Given the description of an element on the screen output the (x, y) to click on. 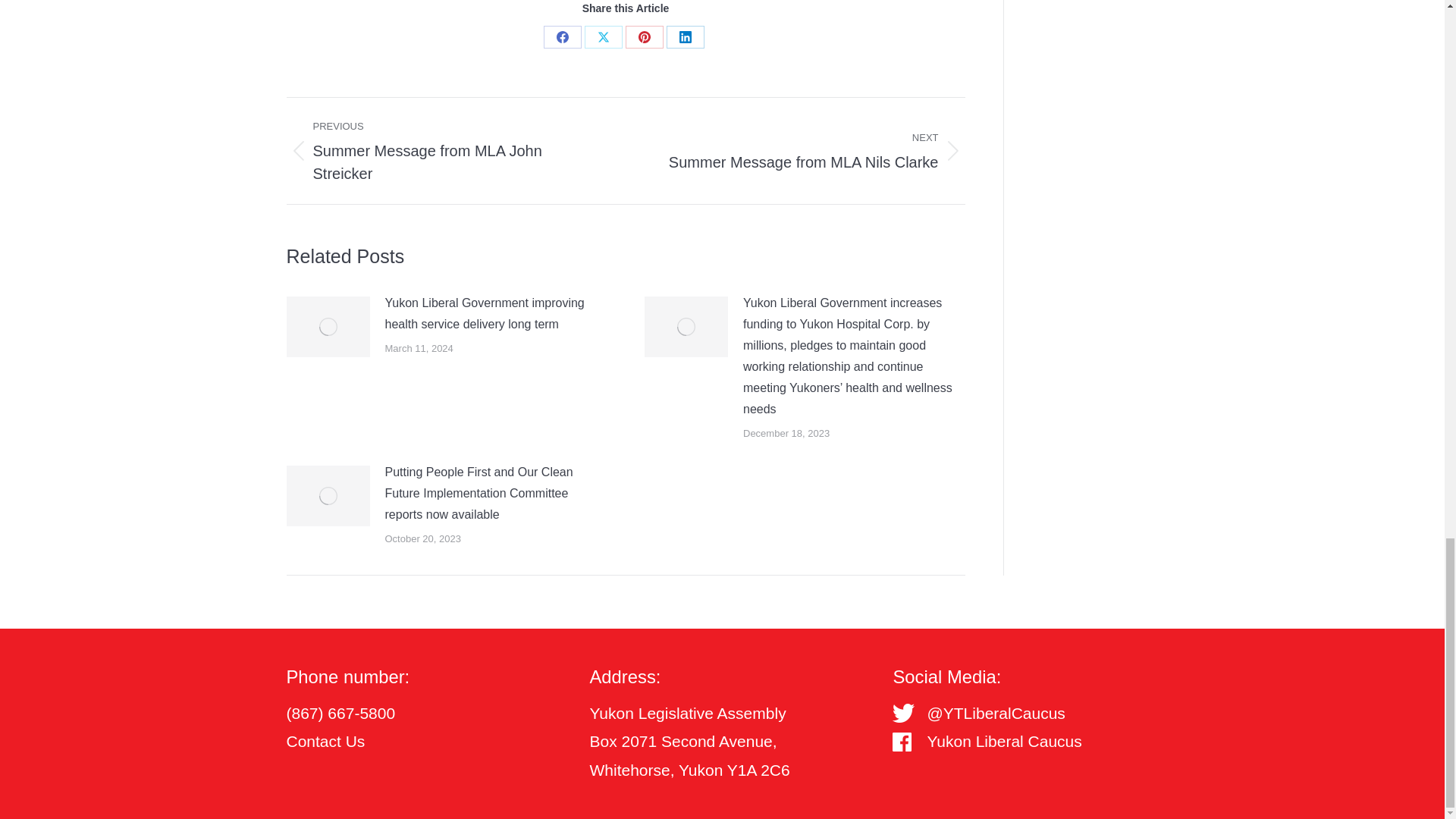
Share on Facebook (561, 36)
Share on LinkedIn (685, 36)
Pinterest (806, 151)
Share on Pinterest (644, 36)
Facebook (644, 36)
X (561, 36)
Contact Us (604, 36)
LinkedIn (325, 741)
